Given the description of an element on the screen output the (x, y) to click on. 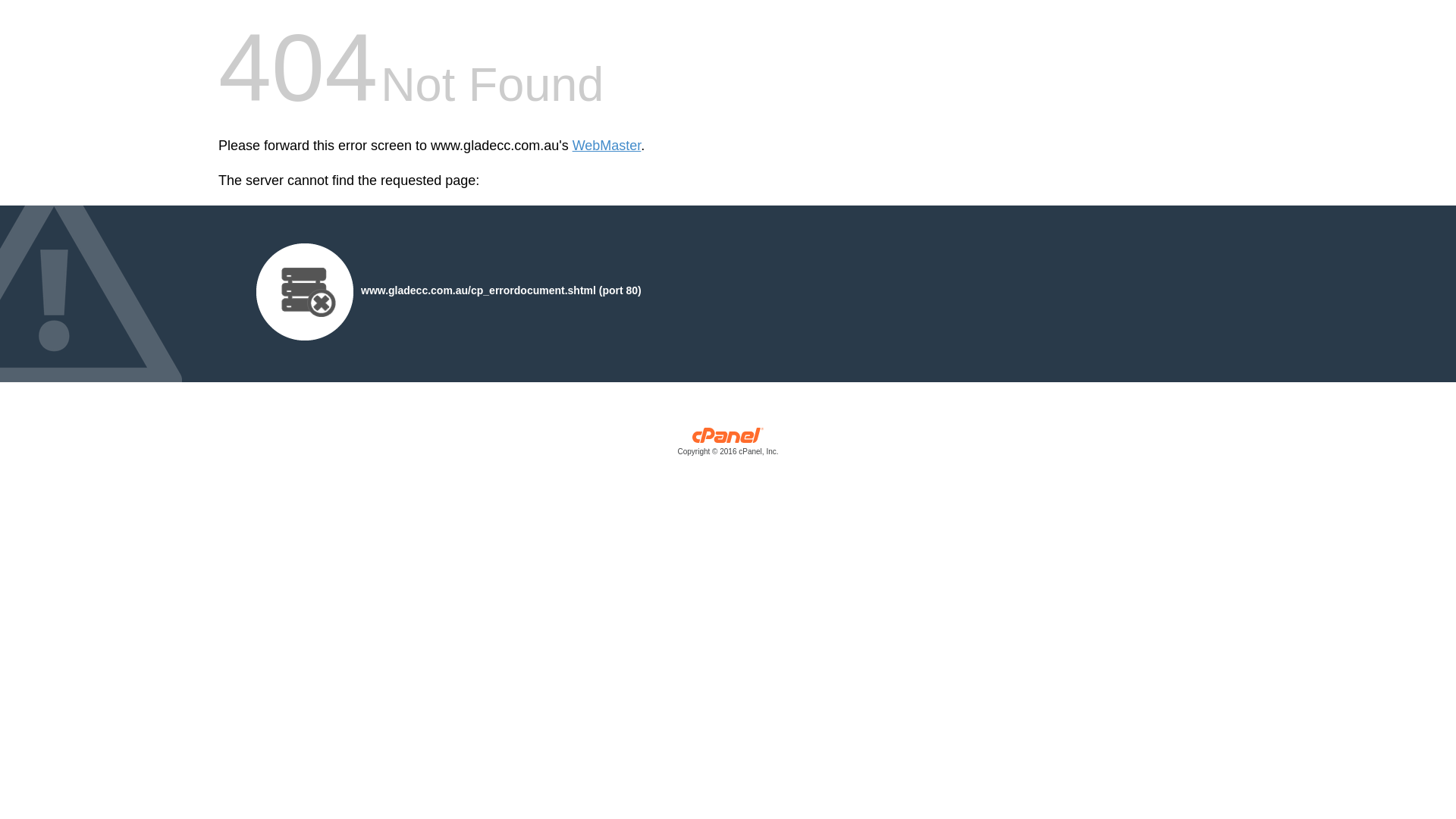
WebMaster Element type: text (606, 145)
